Given the description of an element on the screen output the (x, y) to click on. 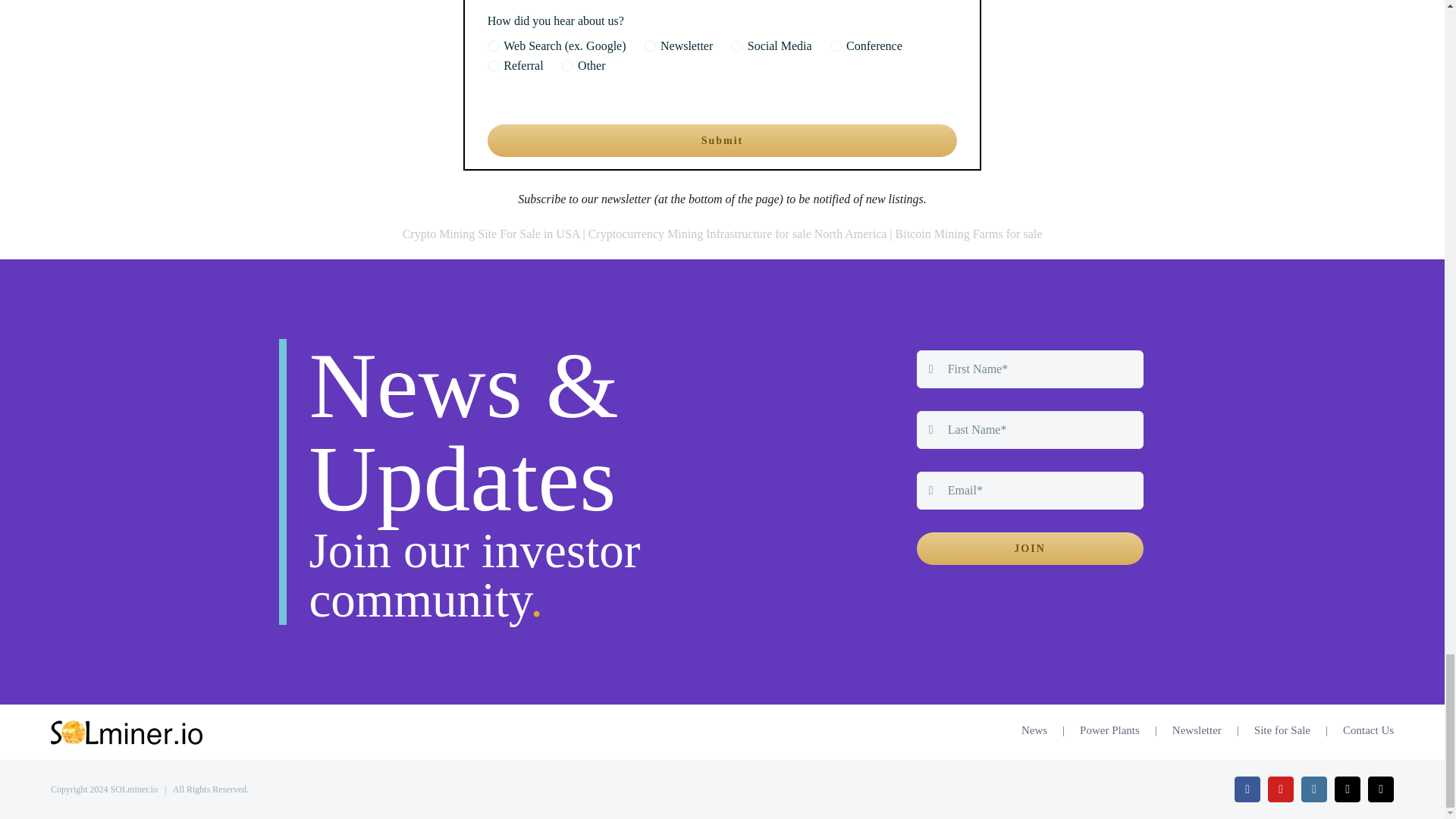
Submit (721, 140)
JOIN (1029, 548)
JOIN (1029, 457)
